Given the description of an element on the screen output the (x, y) to click on. 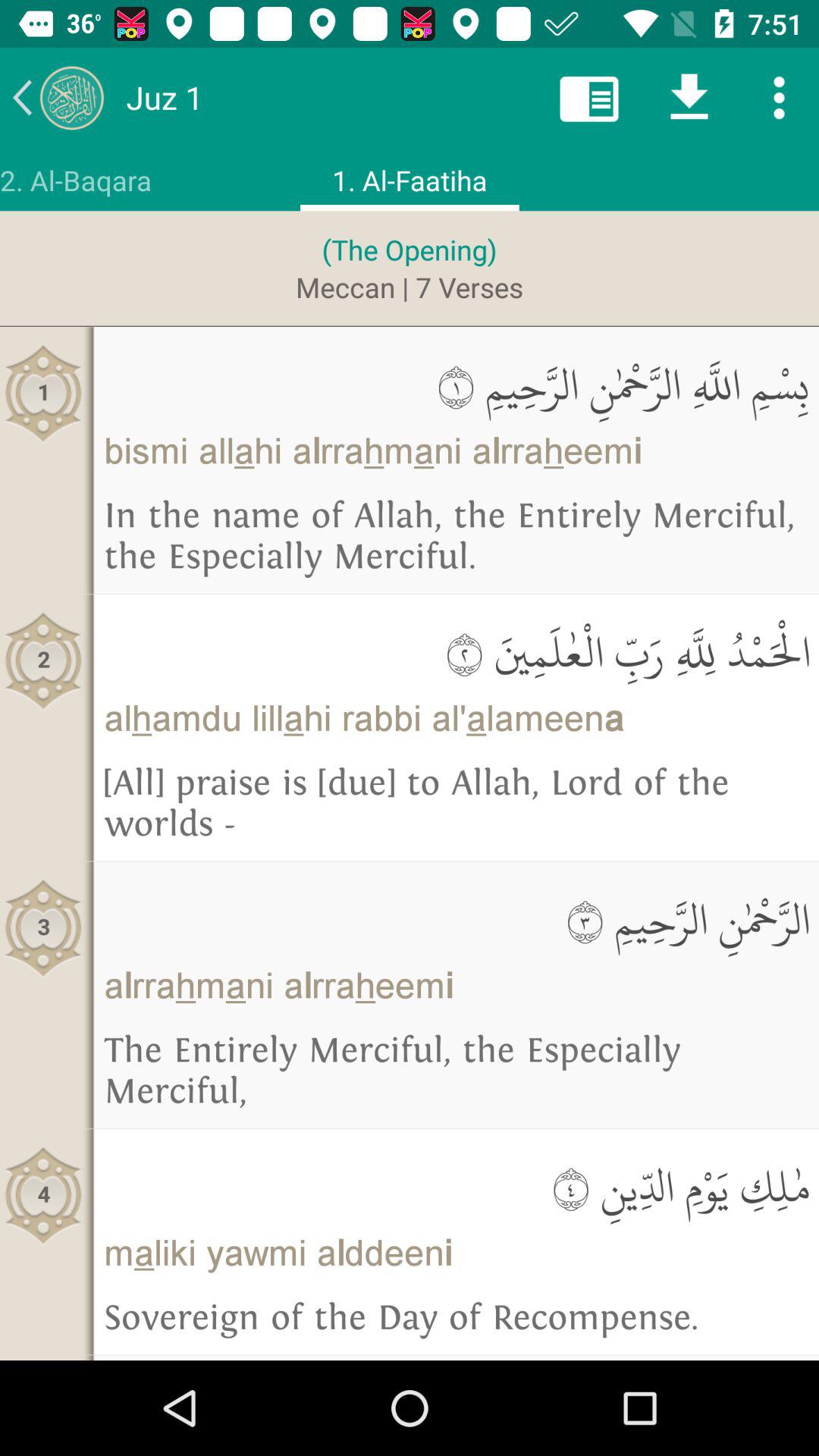
open the icon above the alhamdu lillahi rabbi (456, 652)
